Given the description of an element on the screen output the (x, y) to click on. 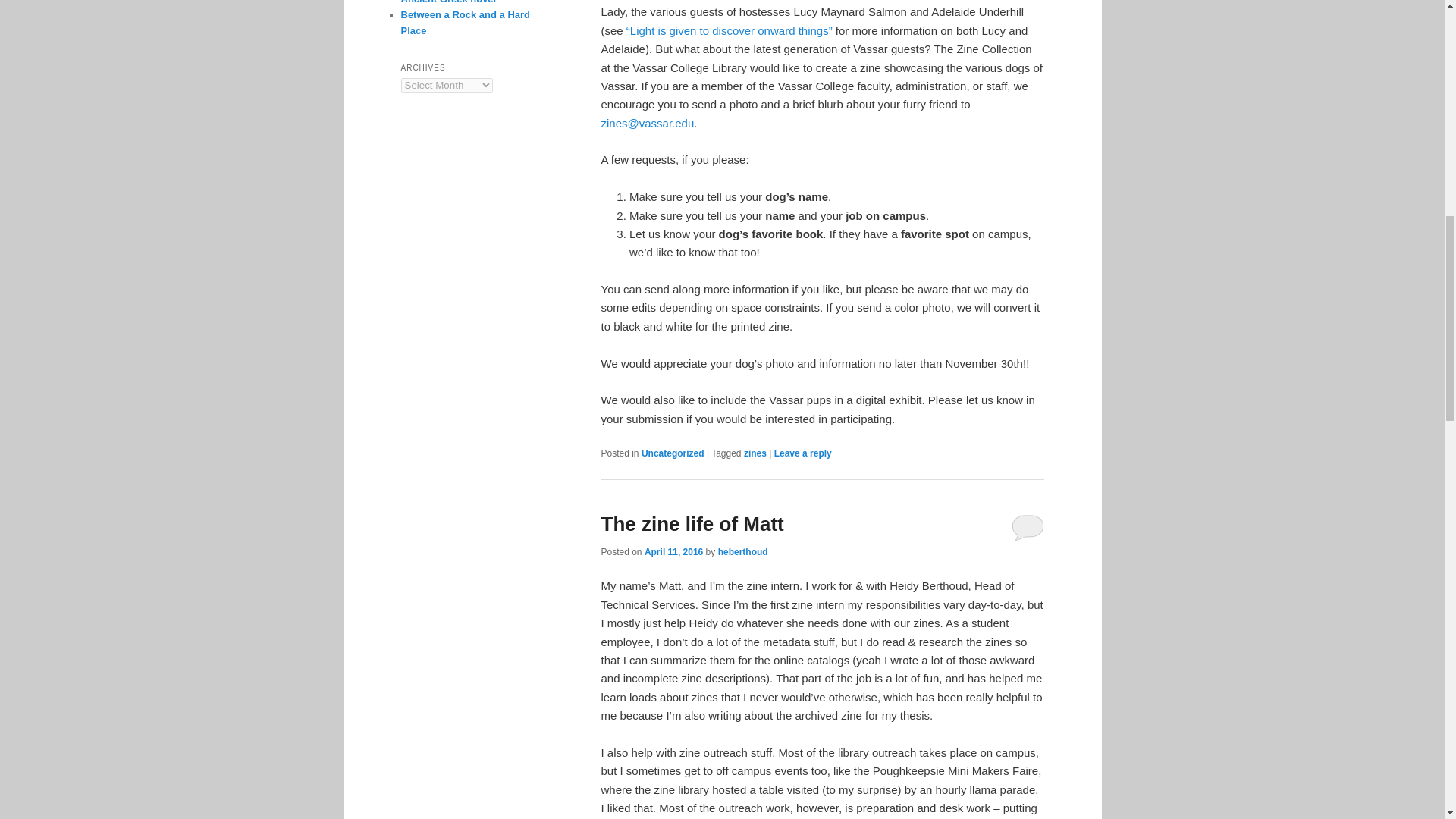
April 11, 2016 (674, 552)
Leave a reply (802, 452)
zines (755, 452)
heberthoud (742, 552)
Uncategorized (673, 452)
View all posts by heberthoud (742, 552)
5:00 pm (674, 552)
The zine life of Matt (691, 523)
